Given the description of an element on the screen output the (x, y) to click on. 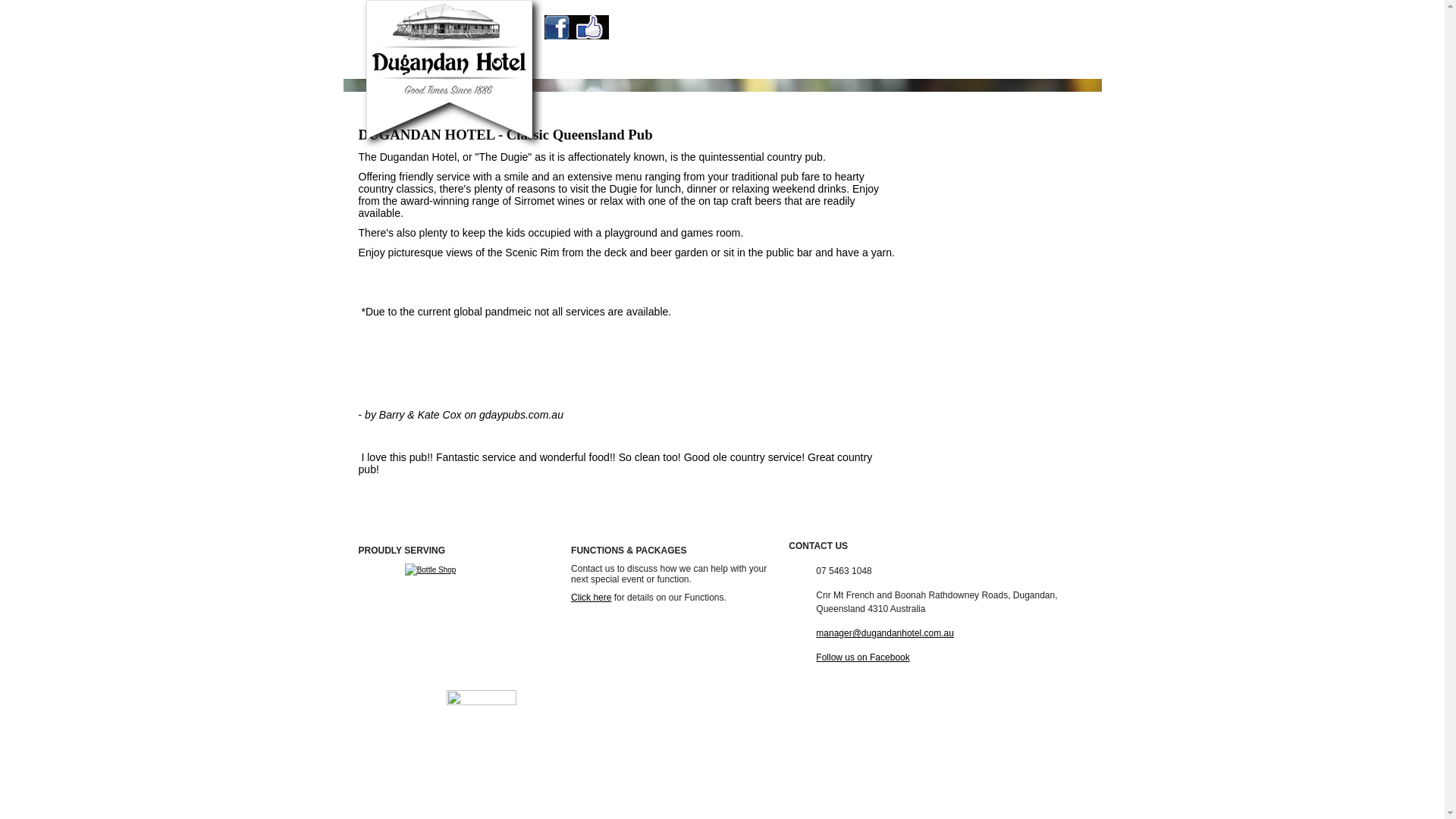
What's On Element type: text (665, 64)
Special Offers Element type: text (843, 717)
What's On Element type: text (664, 717)
Contact Us Element type: text (994, 64)
Tour Groups & Functions Element type: text (764, 64)
History Element type: text (937, 64)
Contact Us Element type: text (952, 717)
manager@dugandanhotel.com.au Element type: text (884, 632)
Dining Element type: text (616, 717)
Dining Element type: text (610, 64)
Click here Element type: text (591, 597)
Follow us on Facebook Element type: text (862, 657)
Home Element type: text (566, 64)
Tour Groups & Functions Element type: text (750, 717)
Special Offers Element type: text (872, 64)
Home Element type: text (576, 717)
History Element type: text (901, 717)
